Given the description of an element on the screen output the (x, y) to click on. 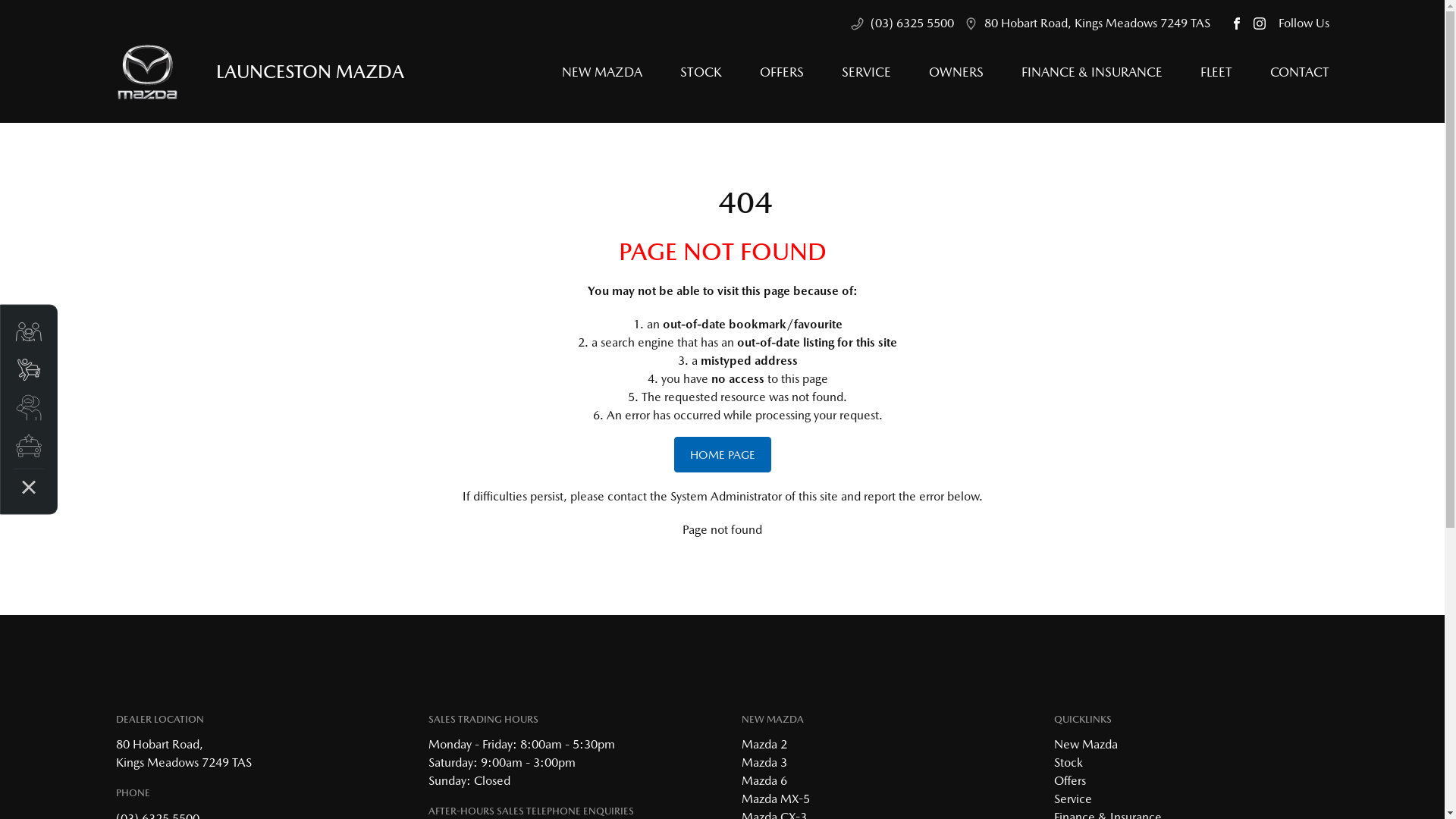
HOME PAGE Element type: text (721, 454)
LAUNCESTON MAZDA Element type: text (259, 71)
FLEET Element type: text (1216, 71)
Mazda 2 Element type: text (764, 744)
(03) 6325 5500 Element type: text (911, 23)
CONTACT Element type: text (1290, 71)
NEW MAZDA Element type: text (601, 71)
Mazda 3 Element type: text (764, 762)
New Mazda Element type: text (1085, 744)
STOCK Element type: text (700, 71)
SERVICE Element type: text (865, 71)
Mazda 6 Element type: text (764, 780)
OFFERS Element type: text (781, 71)
Mazda MX-5 Element type: text (775, 798)
80 Hobart Road, Kings Meadows 7249 TAS Element type: text (1097, 23)
FINANCE & INSURANCE Element type: text (1091, 71)
Service Element type: text (1073, 798)
Offers Element type: text (1069, 780)
OWNERS Element type: text (956, 71)
Stock Element type: text (1068, 762)
